Given the description of an element on the screen output the (x, y) to click on. 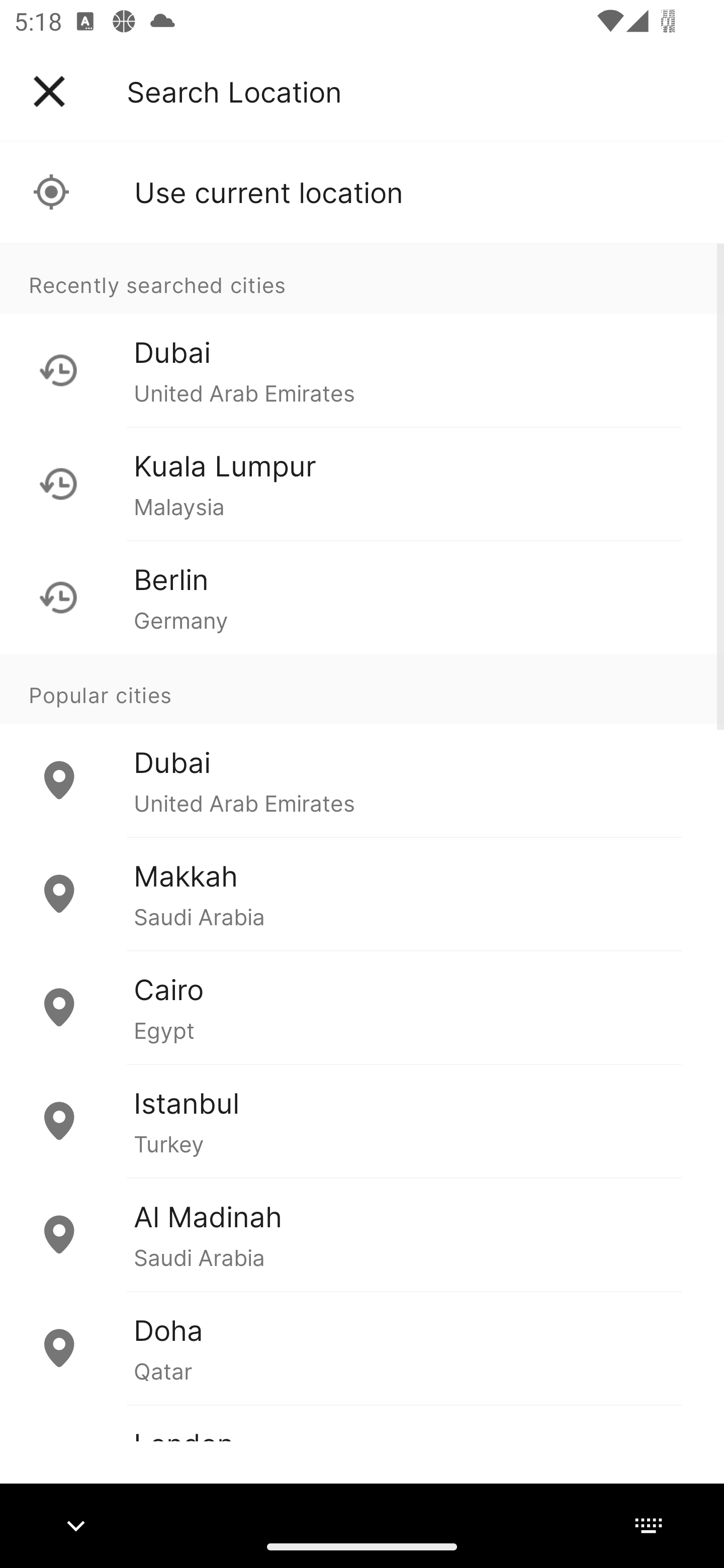
Search Location (234, 91)
Use current location (362, 192)
Recently searched cities (362, 278)
Kuala Lumpur Malaysia (362, 483)
Berlin Germany (362, 596)
Popular cities Dubai United Arab Emirates (362, 745)
Popular cities (362, 688)
Makkah Saudi Arabia (362, 893)
Cairo Egypt (362, 1007)
Istanbul Turkey (362, 1120)
Al Madinah Saudi Arabia (362, 1233)
Doha Qatar (362, 1347)
